Given the description of an element on the screen output the (x, y) to click on. 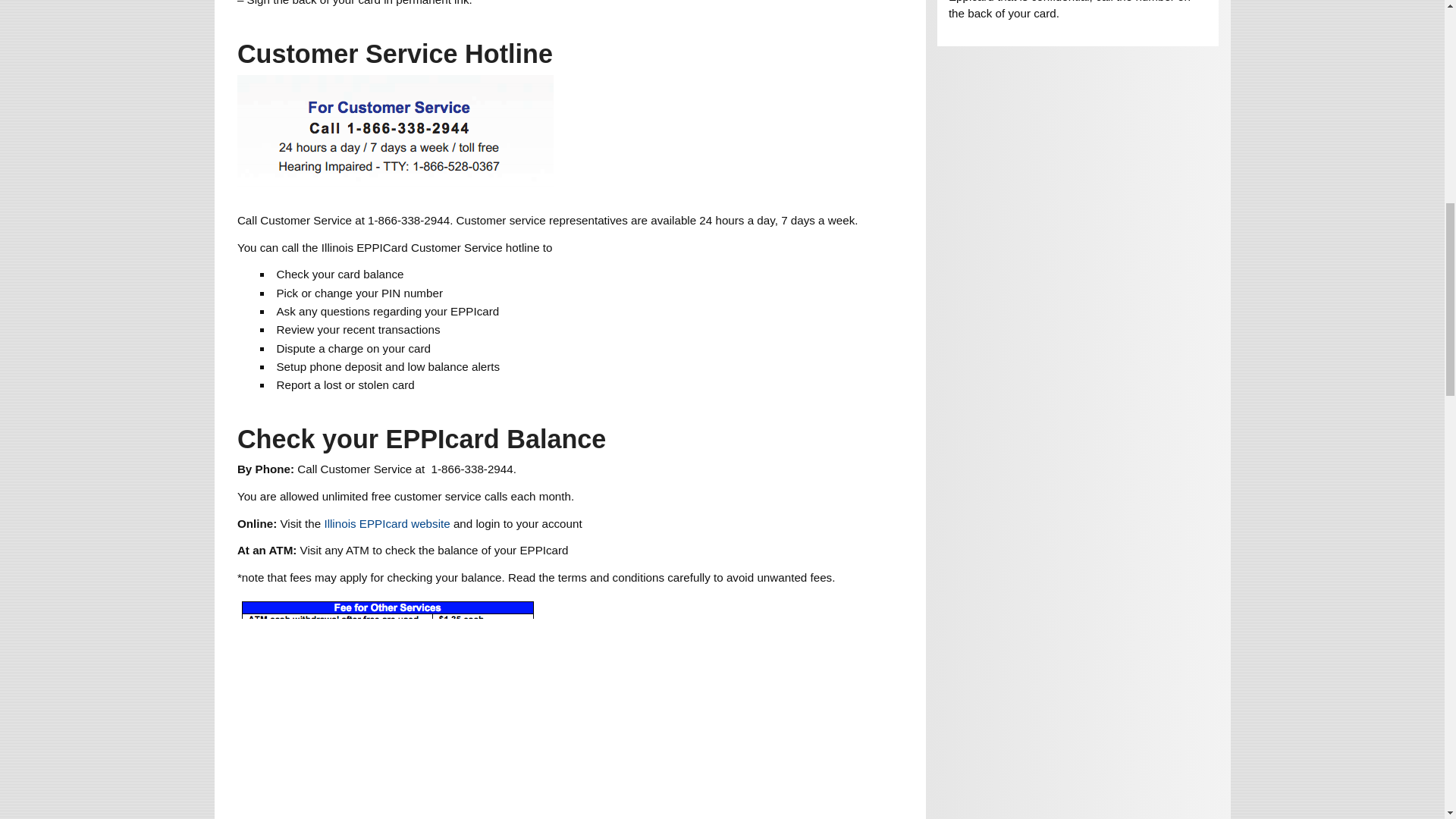
Illinois EPPIcard website  (387, 522)
